Given the description of an element on the screen output the (x, y) to click on. 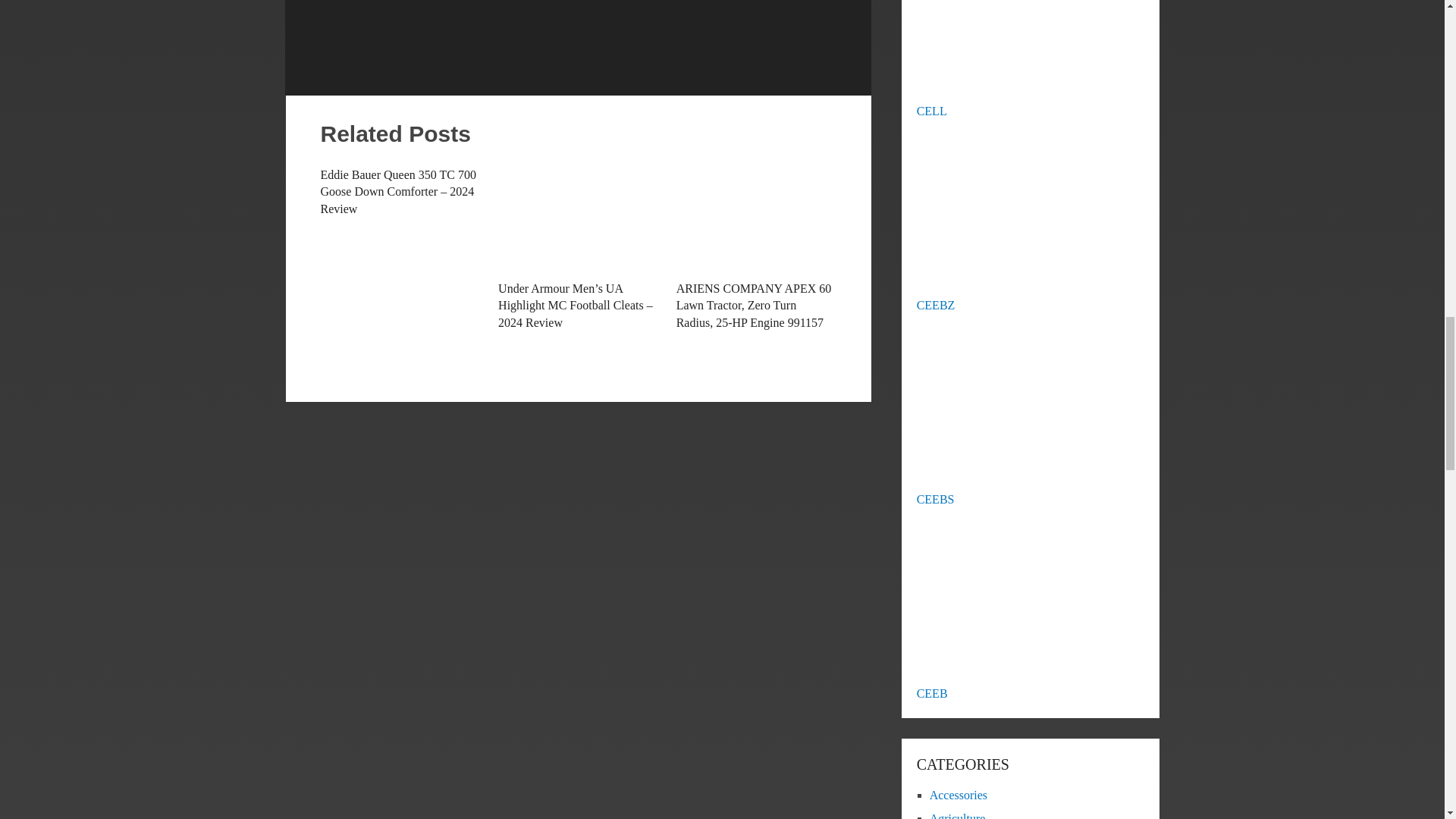
Bestreviews (445, 0)
